Given the description of an element on the screen output the (x, y) to click on. 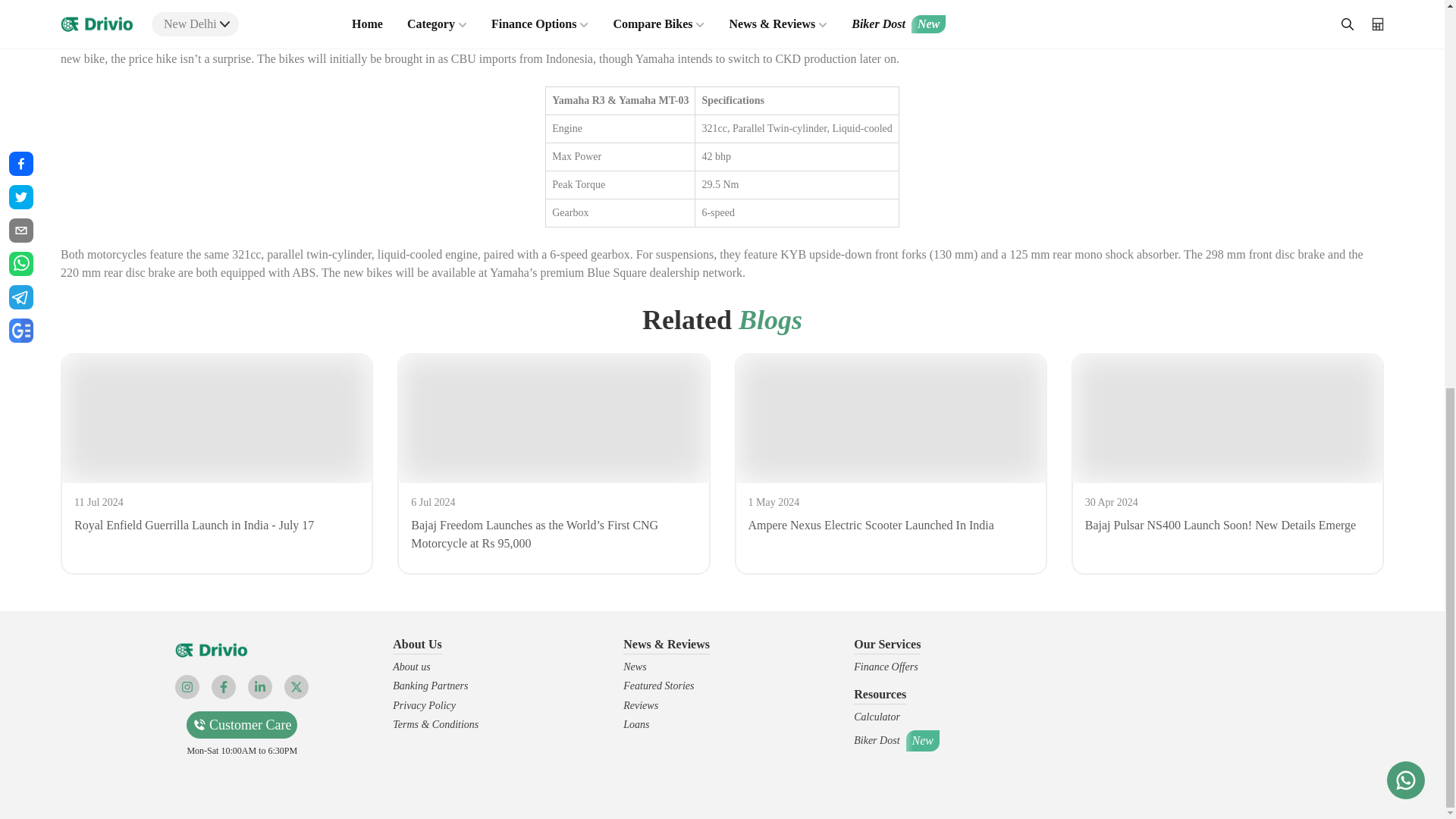
Bajaj Pulsar NS400 Launch Soon! New Details Emerge (1227, 418)
Ampere Nexus Electric Scooter Launched In India (890, 418)
Royal Enfield Guerrilla Launch in India - July 17 (216, 418)
Drivio (210, 649)
